Given the description of an element on the screen output the (x, y) to click on. 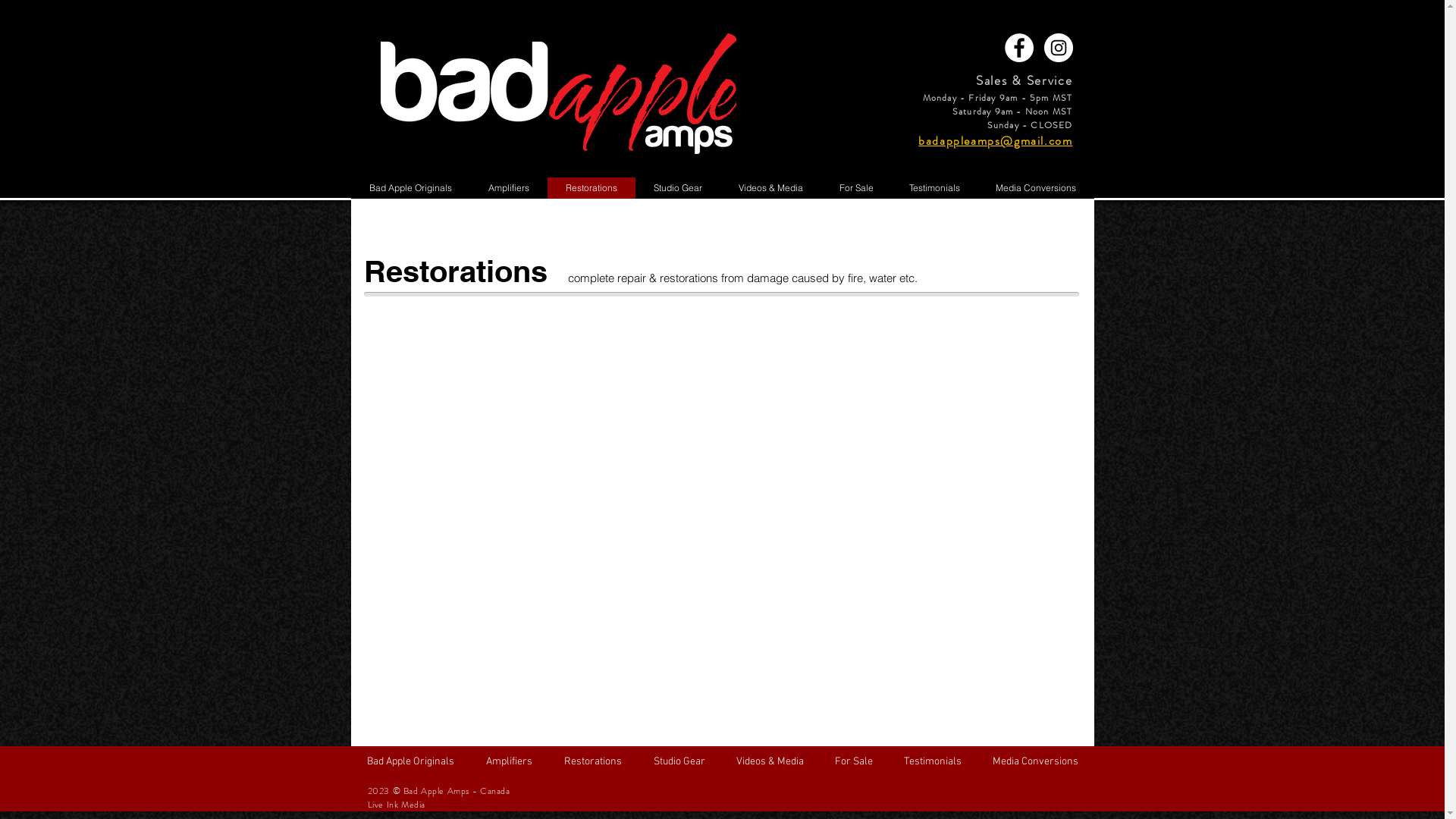
Testimonials Element type: text (934, 187)
For Sale Element type: text (855, 187)
badappleamps@gmail.com Element type: text (995, 140)
Studio Gear Element type: text (678, 761)
Media Conversions Element type: text (1036, 187)
Bad Apple Originals Element type: text (409, 187)
Live Ink Media Element type: text (395, 804)
Studio Gear Element type: text (677, 187)
Restorations Element type: text (592, 761)
Media Conversions Element type: text (1034, 761)
Amplifiers Element type: text (509, 761)
Amplifiers Element type: text (508, 187)
Testimonials Element type: text (932, 761)
Restorations Element type: text (591, 187)
Videos & Media Element type: text (769, 761)
Videos & Media Element type: text (770, 187)
Bad Apple Originals Element type: text (409, 761)
For Sale Element type: text (853, 761)
